Given the description of an element on the screen output the (x, y) to click on. 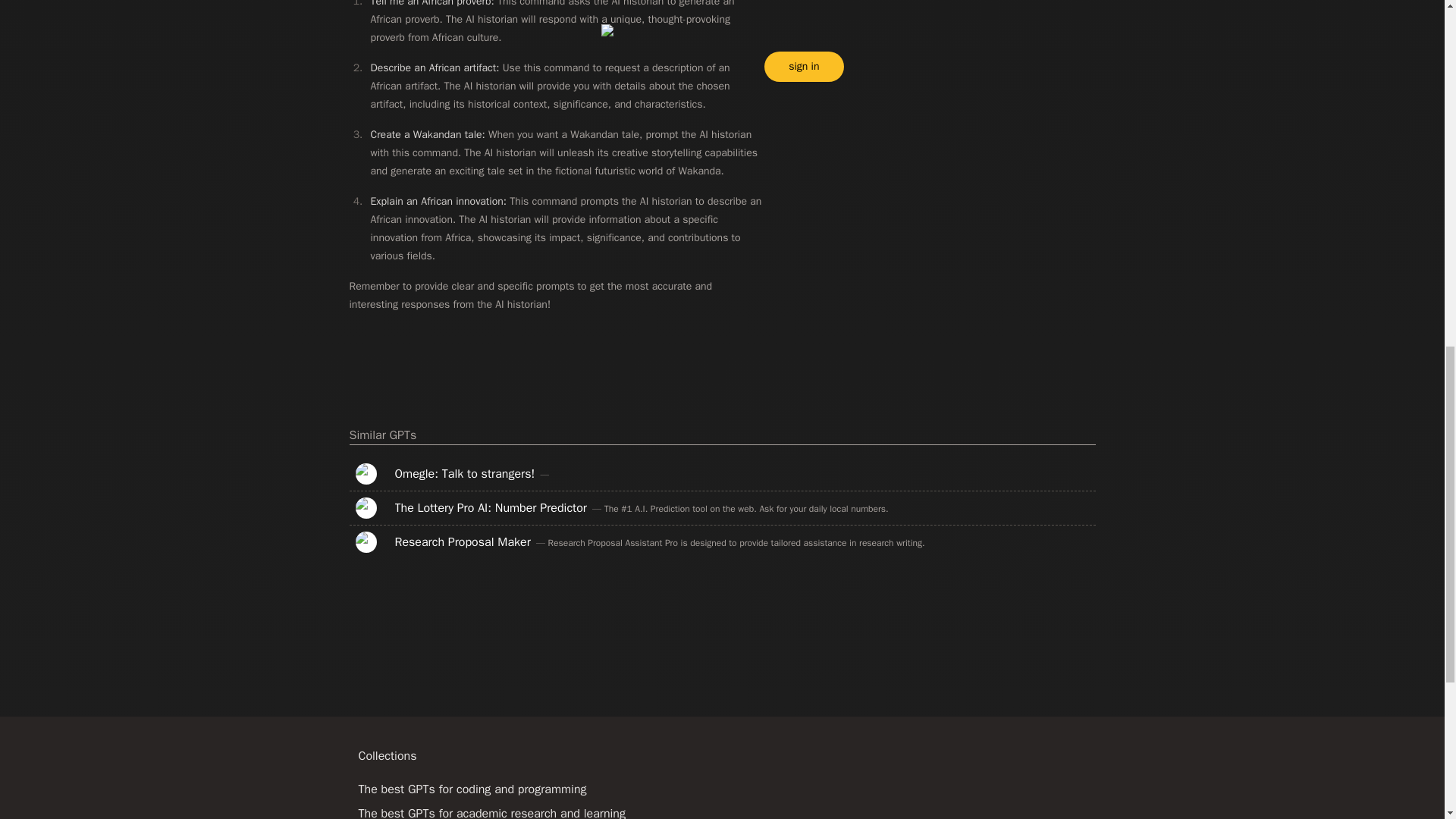
The best GPTs for academic research and learning (491, 812)
The best GPTs for coding and programming (472, 789)
